Given the description of an element on the screen output the (x, y) to click on. 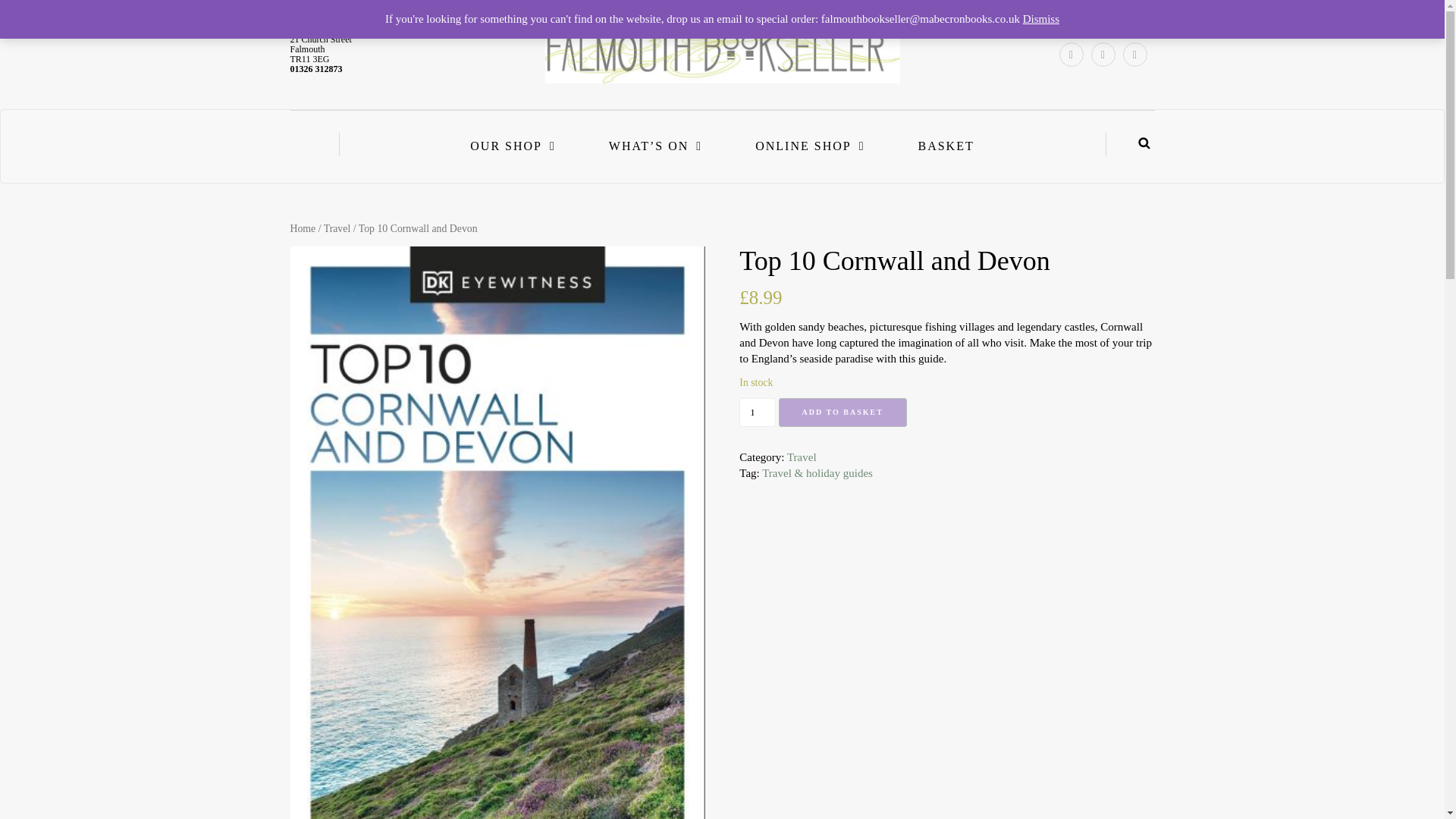
ONLINE SHOP (809, 146)
OUR SHOP (512, 146)
1 (756, 412)
